Given the description of an element on the screen output the (x, y) to click on. 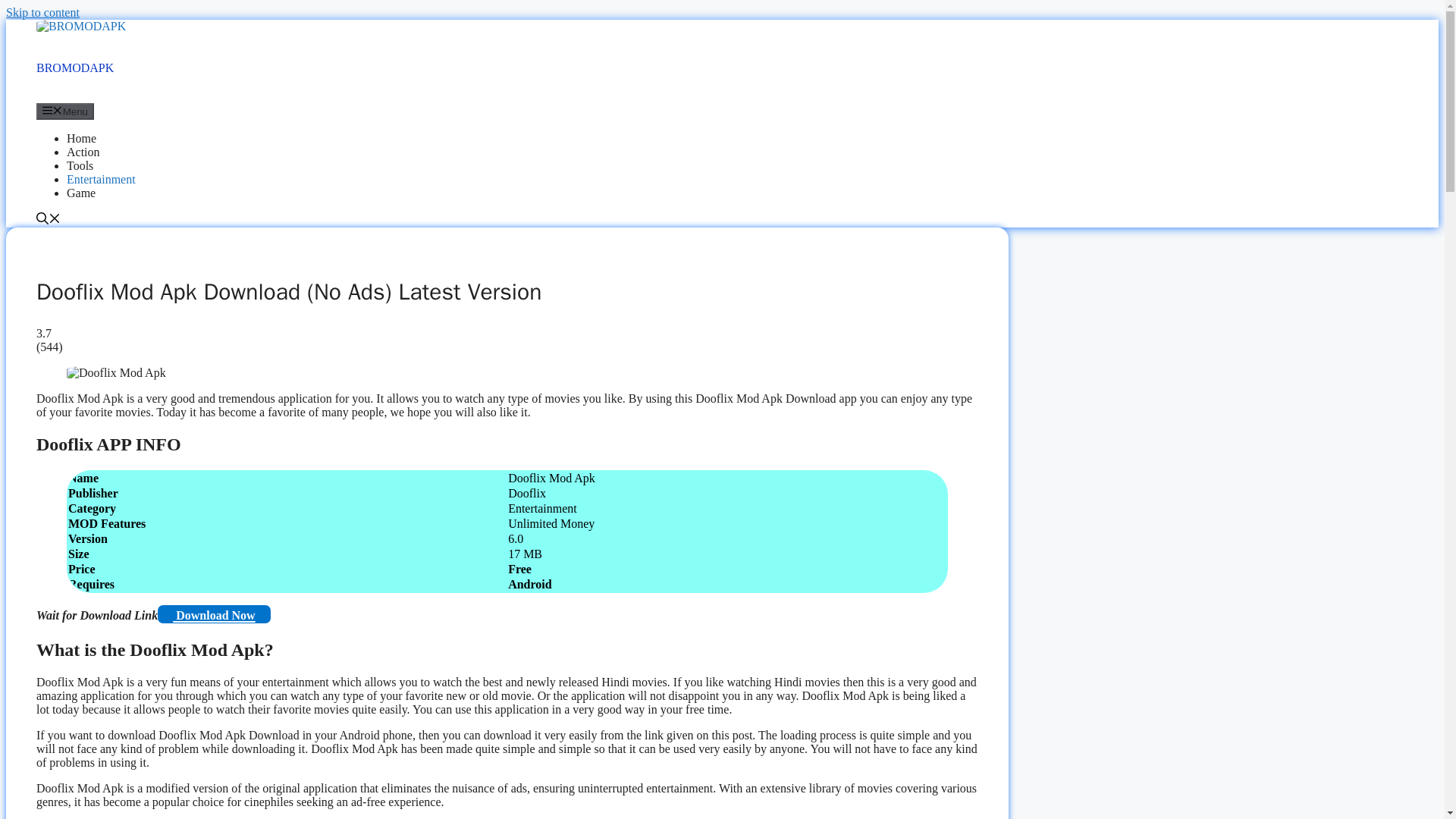
Menu (65, 111)
BROMODAPK (80, 26)
Home (81, 137)
Entertainment (100, 178)
BROMODAPK (80, 25)
Skip to content (42, 11)
Download Now (213, 614)
Skip to content (42, 11)
Tools (79, 164)
Action (83, 151)
BROMODAPK (74, 67)
Game (81, 192)
